Given the description of an element on the screen output the (x, y) to click on. 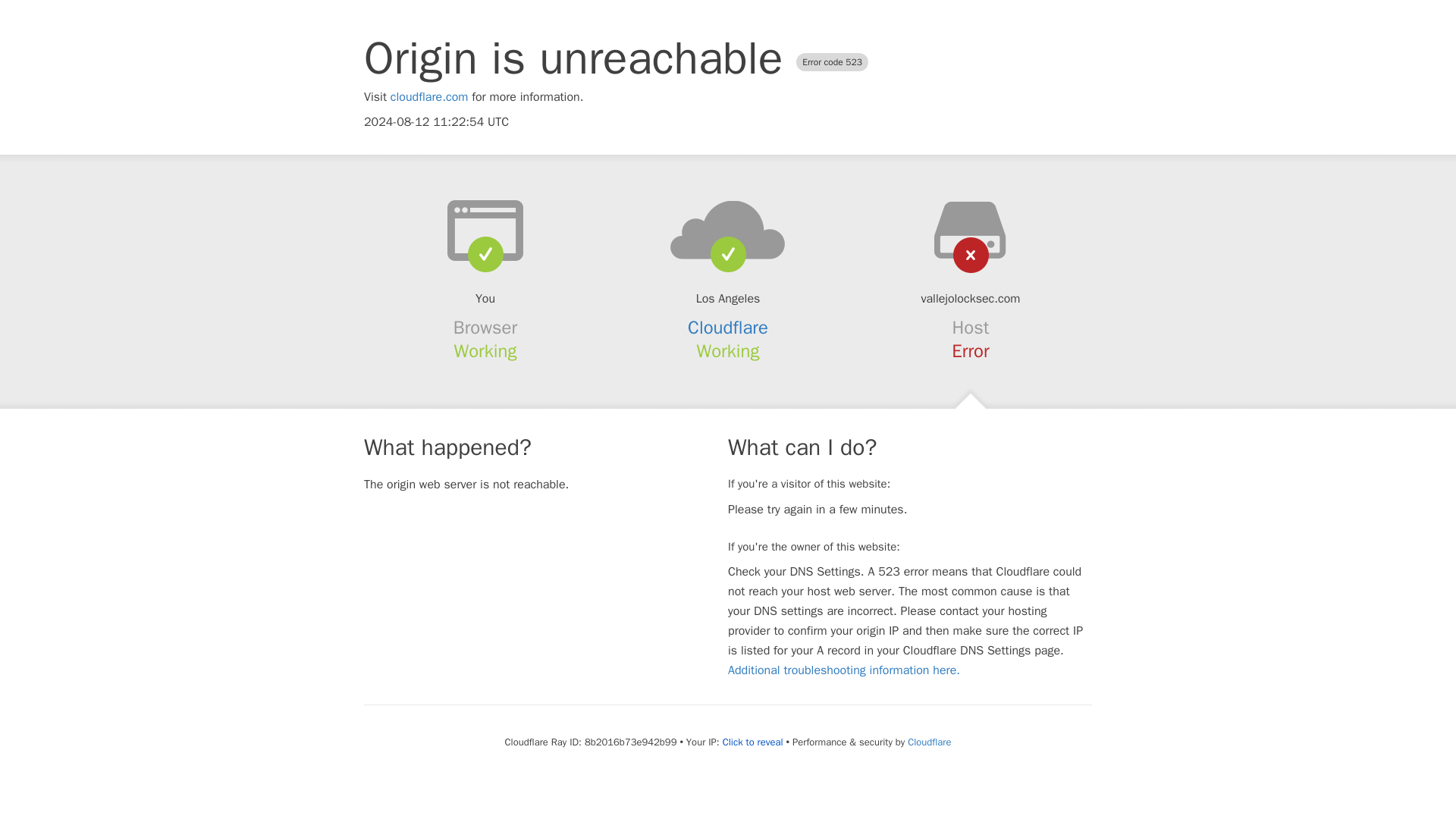
cloudflare.com (429, 96)
Cloudflare (727, 327)
Additional troubleshooting information here. (843, 670)
Click to reveal (752, 742)
Cloudflare (928, 741)
